Given the description of an element on the screen output the (x, y) to click on. 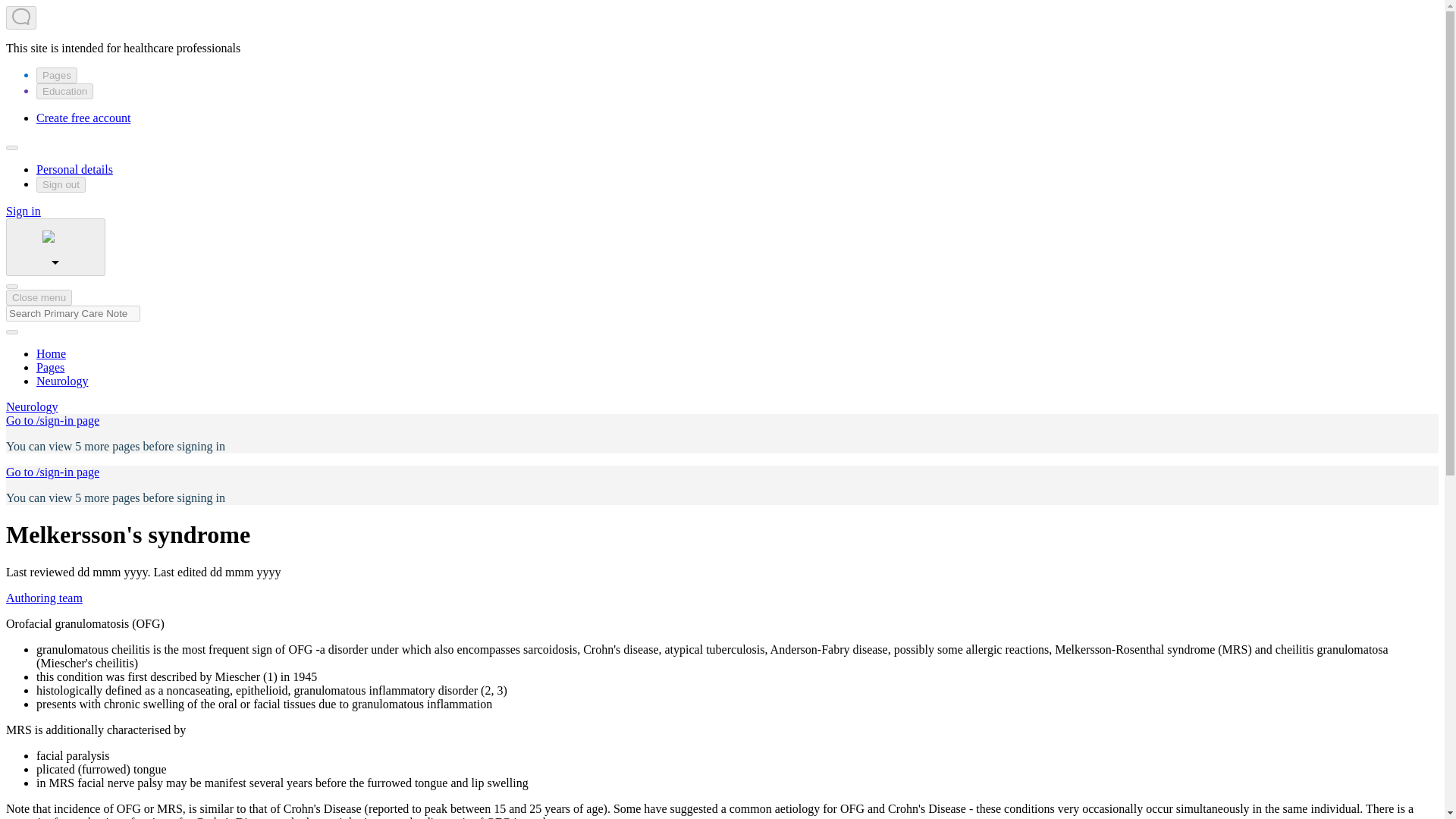
Close menu (38, 297)
Sign in (22, 210)
Neurology (31, 406)
Personal details (74, 169)
Pages (50, 367)
Education (64, 91)
Neurology (61, 380)
Authoring team (43, 597)
Home (50, 353)
Sign out (60, 184)
